Given the description of an element on the screen output the (x, y) to click on. 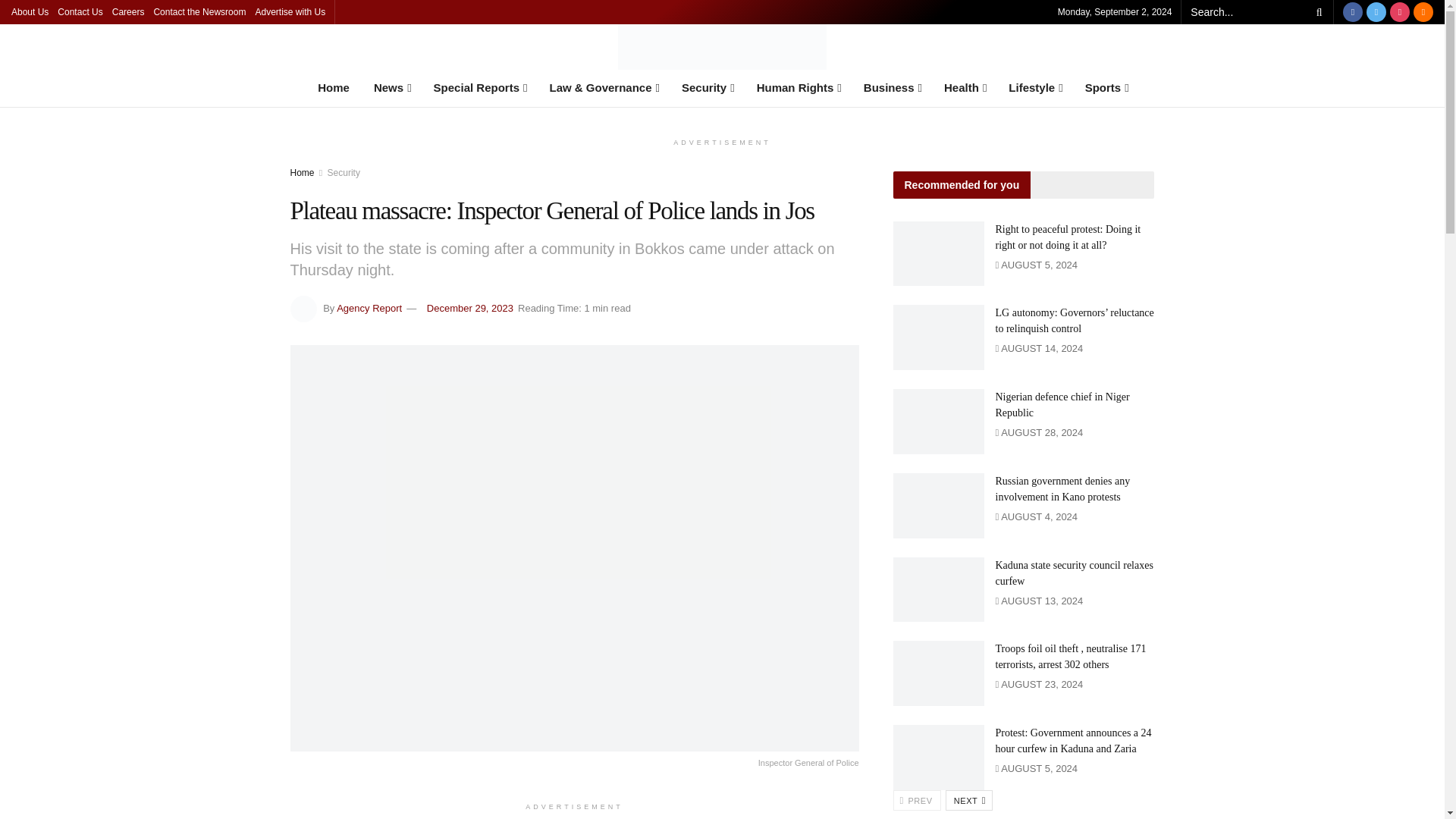
Careers (128, 12)
Advertise with Us (289, 12)
Previous (916, 800)
About Us (29, 12)
Human Rights (797, 87)
Special Reports (479, 87)
Home (333, 87)
Contact the Newsroom (199, 12)
Contact Us (79, 12)
Next (968, 800)
